Given the description of an element on the screen output the (x, y) to click on. 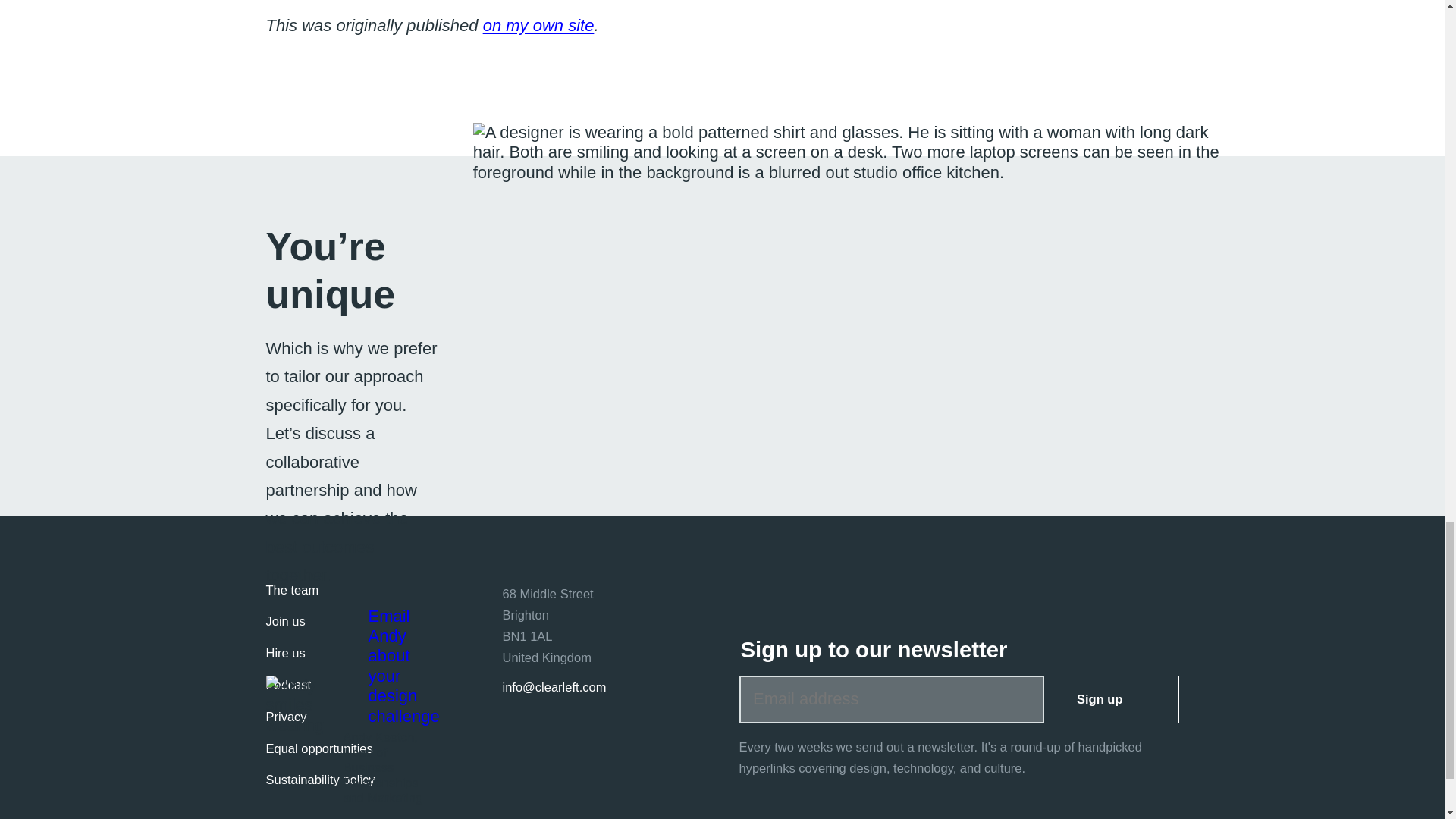
Podcast (287, 685)
The team (291, 590)
on my own site (538, 25)
Equal opportunities (318, 748)
Hire us (284, 653)
Privacy (284, 716)
Sustainability policy (319, 780)
Join us (284, 621)
